Given the description of an element on the screen output the (x, y) to click on. 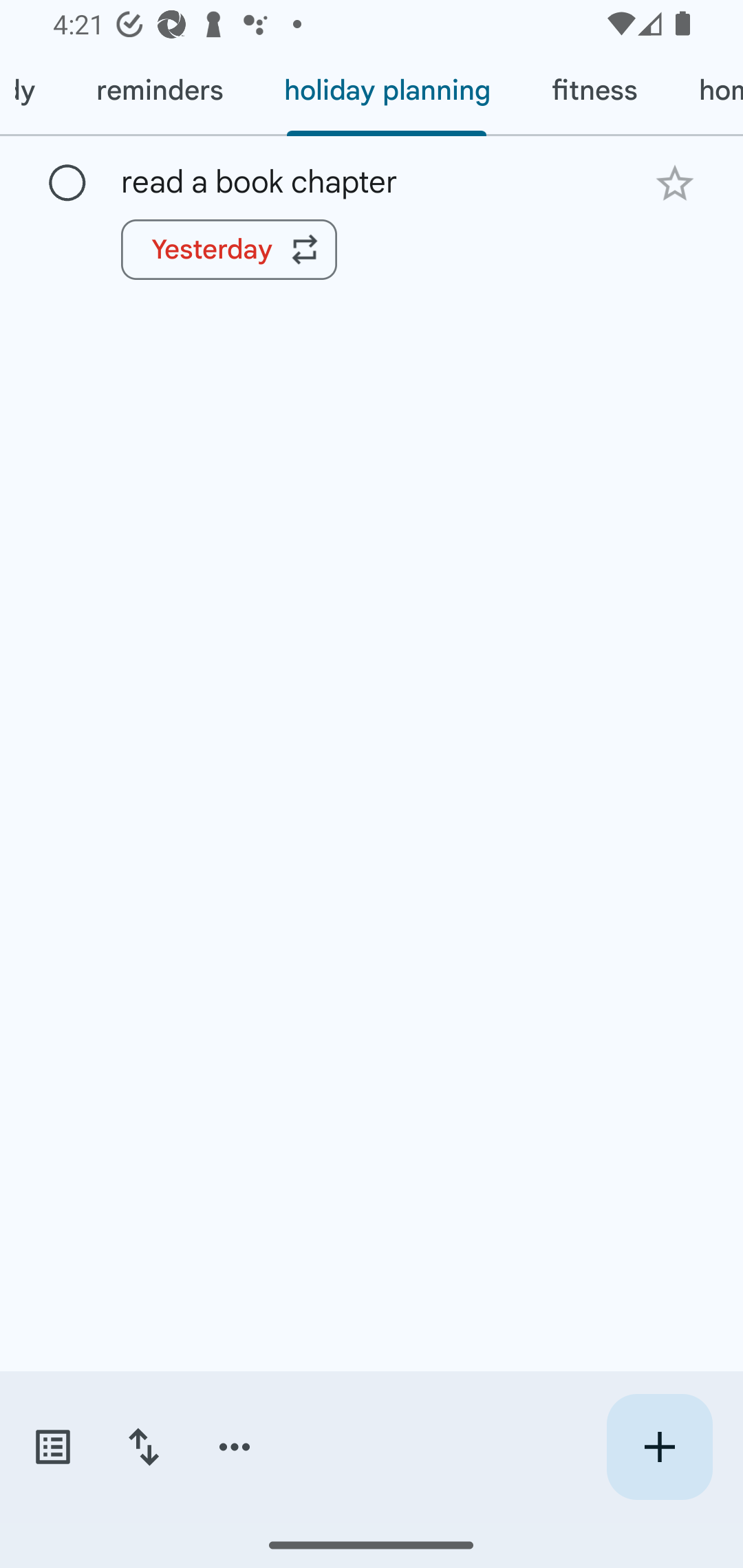
reminders (159, 90)
fitness (593, 90)
Add star (674, 182)
Mark as complete (67, 183)
Yesterday (229, 248)
Switch task lists (52, 1447)
Create new task (659, 1446)
Change sort order (143, 1446)
More options (234, 1446)
